Given the description of an element on the screen output the (x, y) to click on. 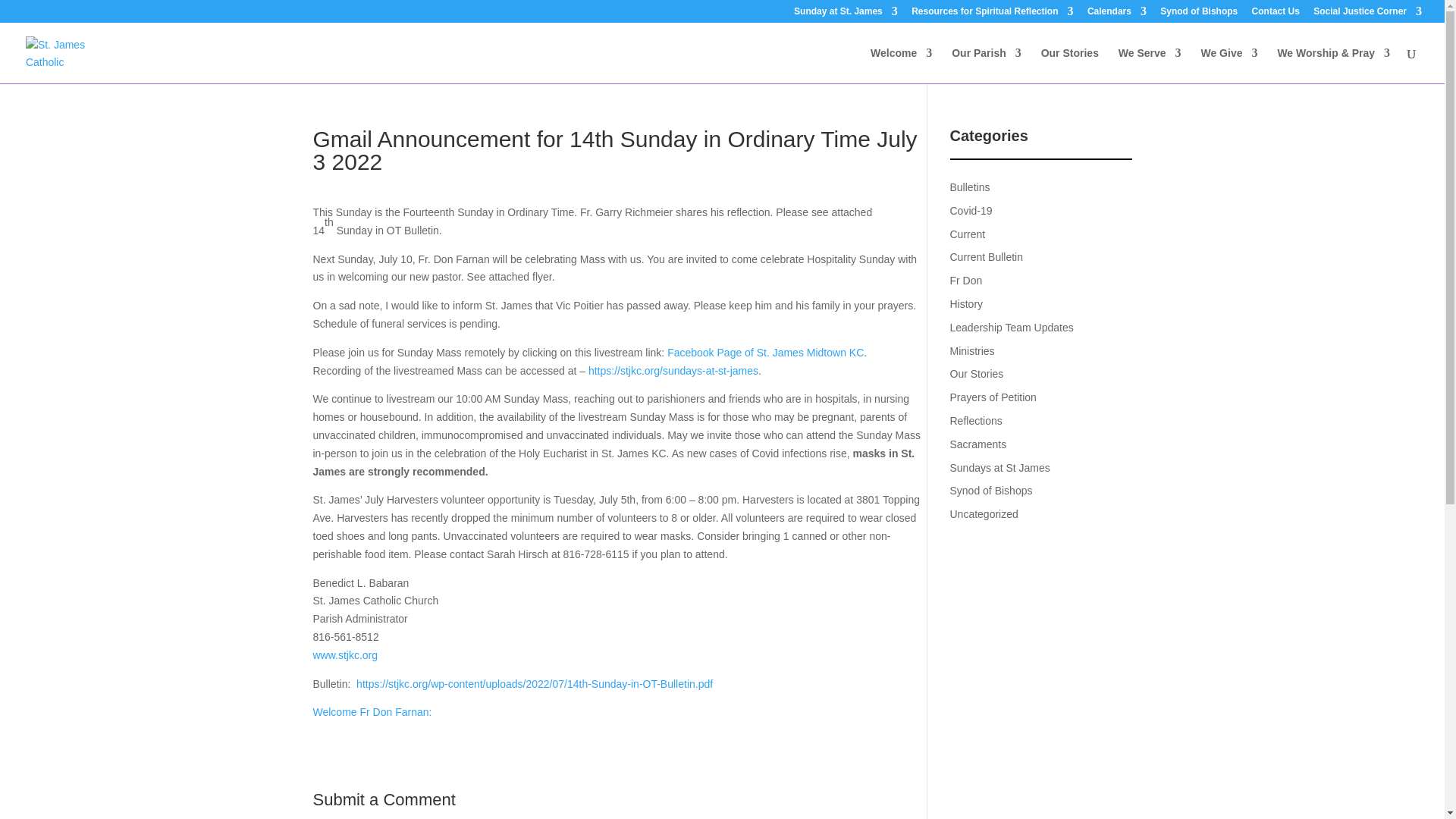
Welcome (900, 65)
Social Justice Corner (1367, 14)
Our Parish (987, 65)
We Serve (1149, 65)
Sunday at St. James (845, 14)
Resources for Spiritual Reflection (992, 14)
Contact Us (1276, 14)
Our Stories (1070, 65)
We Give (1228, 65)
Synod of Bishops (1198, 14)
